Given the description of an element on the screen output the (x, y) to click on. 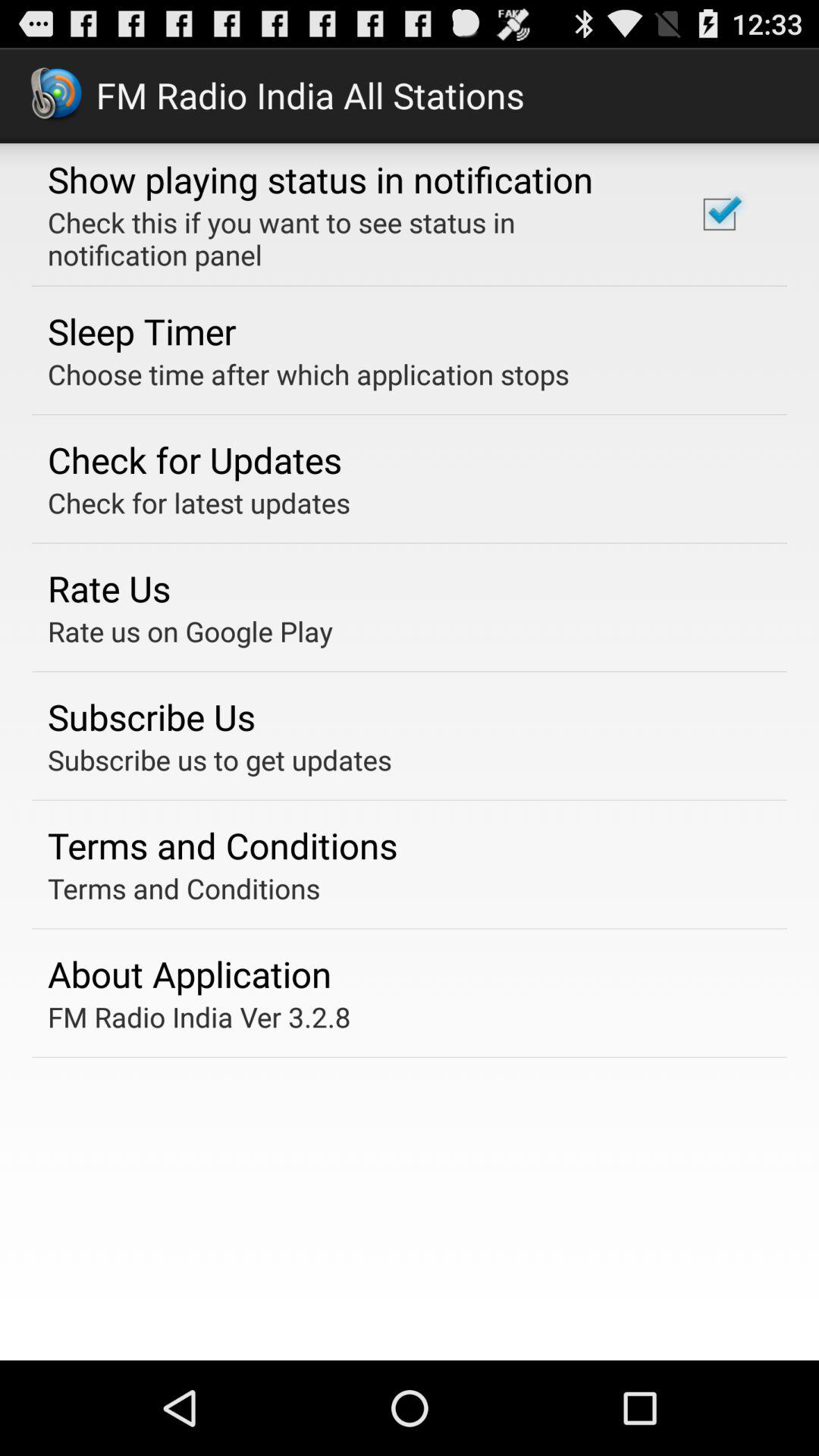
turn on item to the right of check this if app (719, 214)
